Given the description of an element on the screen output the (x, y) to click on. 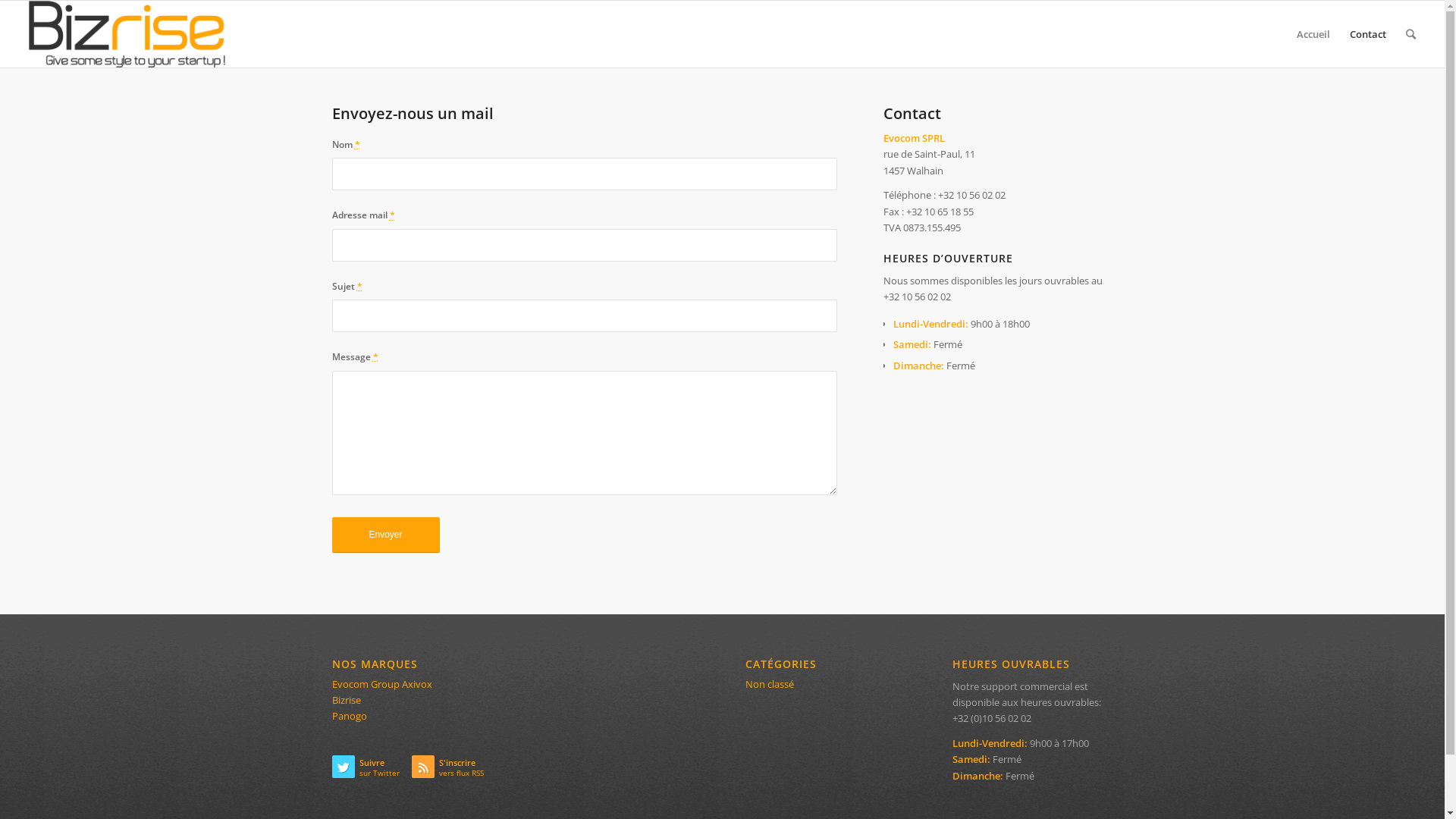
Accueil Element type: text (1312, 33)
Evocom Group Element type: text (365, 683)
S'inscrire
vers flux RSS Element type: text (451, 770)
Suivre
sur Twitter Element type: text (372, 770)
Envoyer Element type: text (385, 534)
Contact Element type: text (1367, 33)
Axivox Element type: text (416, 683)
Bizrise Element type: text (346, 699)
Panogo Element type: text (349, 715)
